Given the description of an element on the screen output the (x, y) to click on. 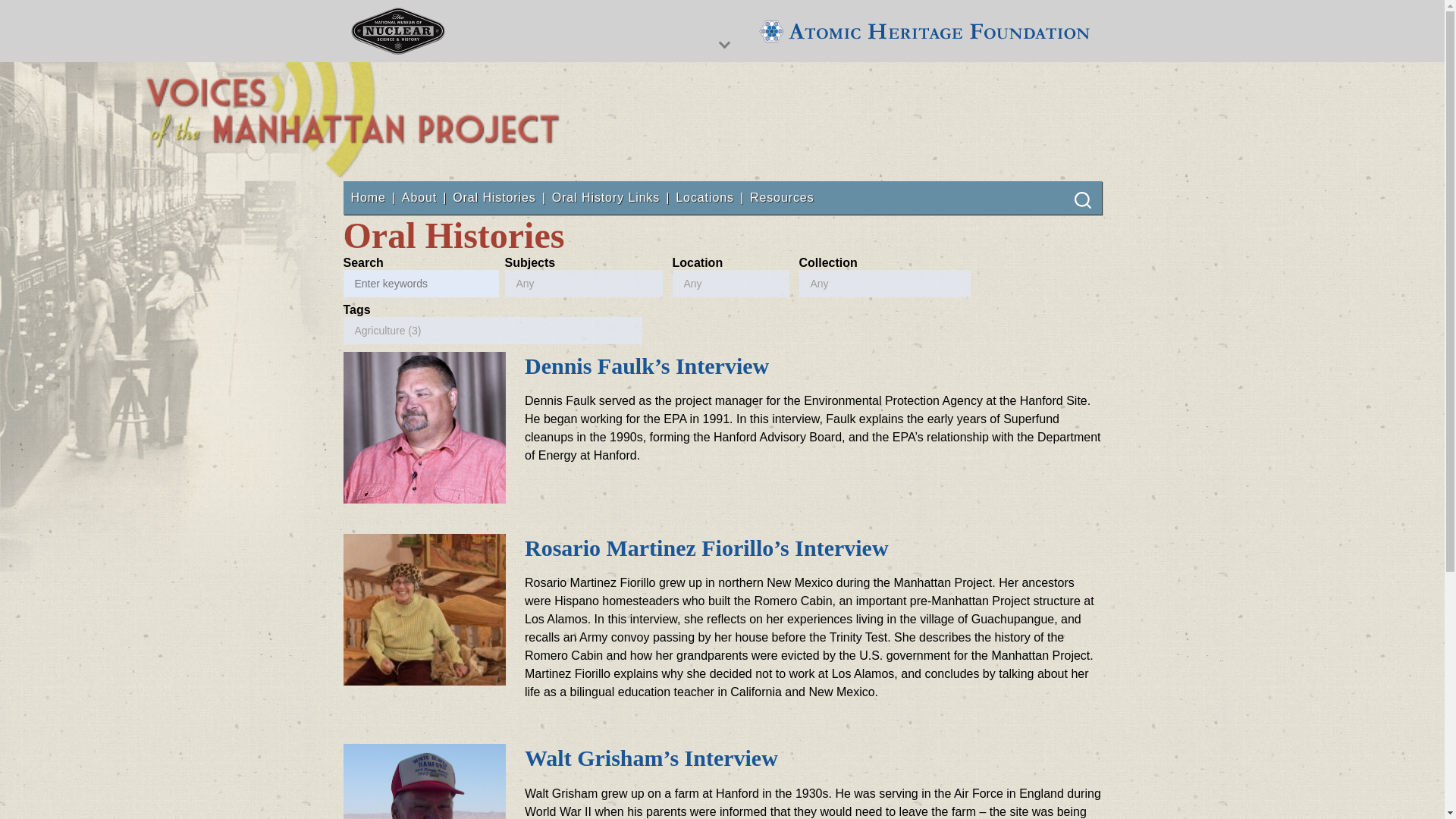
Oral Histories (493, 197)
About (418, 197)
Home (367, 197)
Oral History Links (605, 197)
Locations (704, 197)
Resources (781, 197)
